Given the description of an element on the screen output the (x, y) to click on. 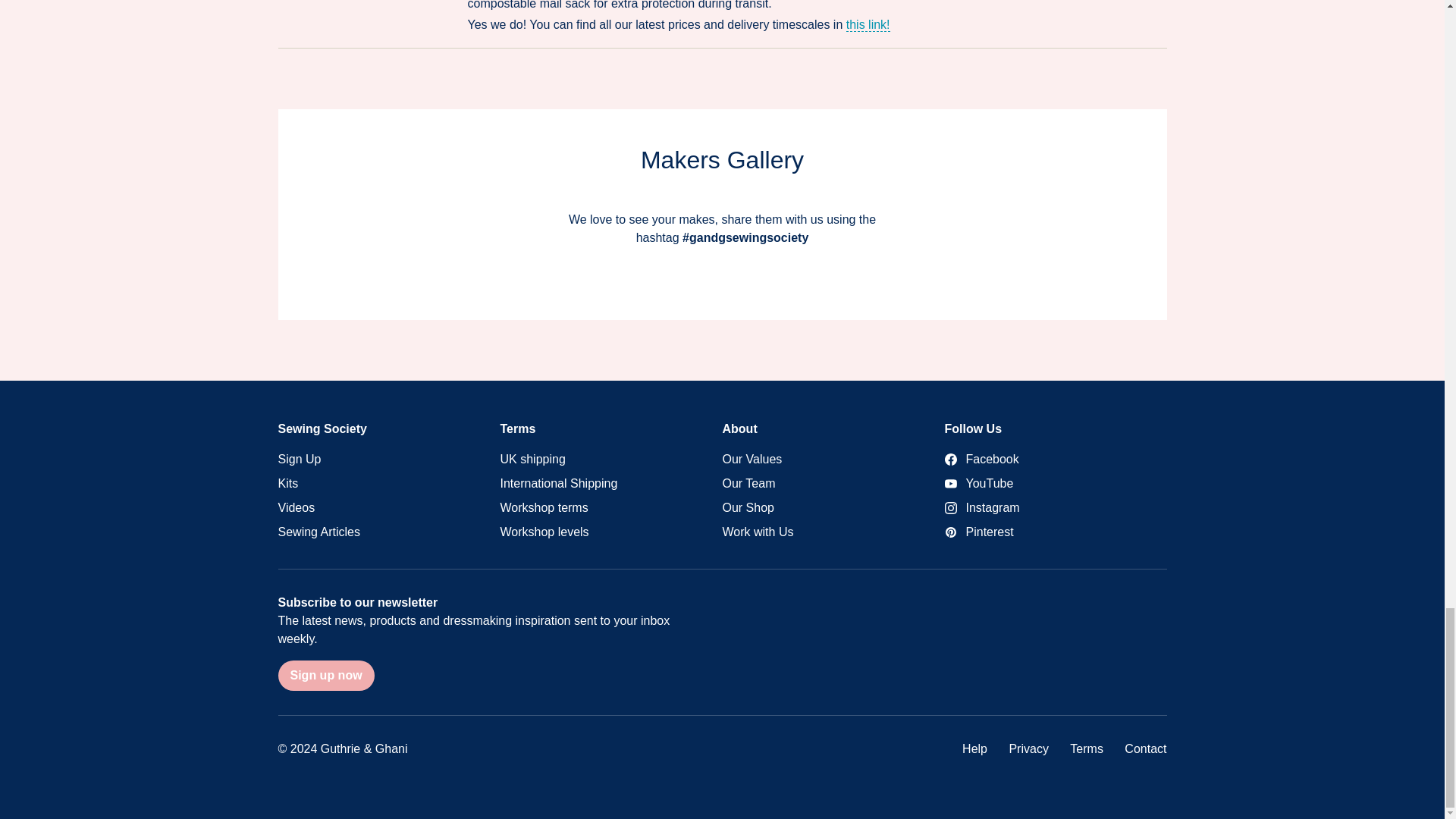
Our Team (832, 483)
Help (974, 748)
Workshop levels (611, 532)
Sign Up (388, 459)
Terms (1086, 748)
Facebook (1055, 459)
Workshop terms (611, 508)
Sewing Society (322, 428)
Privacy (1028, 748)
Videos (388, 508)
